Given the description of an element on the screen output the (x, y) to click on. 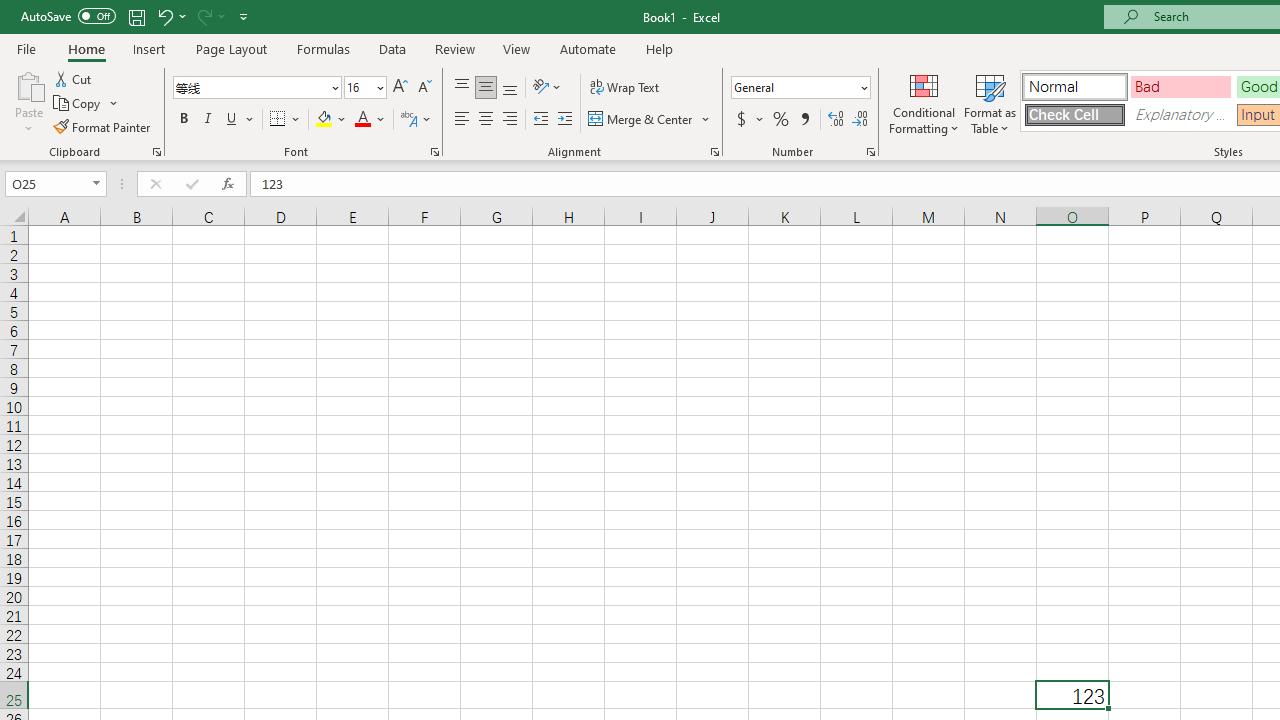
Home (86, 48)
Show Phonetic Field (416, 119)
Bold (183, 119)
Open (96, 183)
Number Format (794, 87)
Align Right (509, 119)
Office Clipboard... (156, 151)
Increase Indent (565, 119)
Formulas (323, 48)
Top Align (461, 87)
Orientation (547, 87)
Save (136, 15)
Paste (28, 84)
View (517, 48)
